Given the description of an element on the screen output the (x, y) to click on. 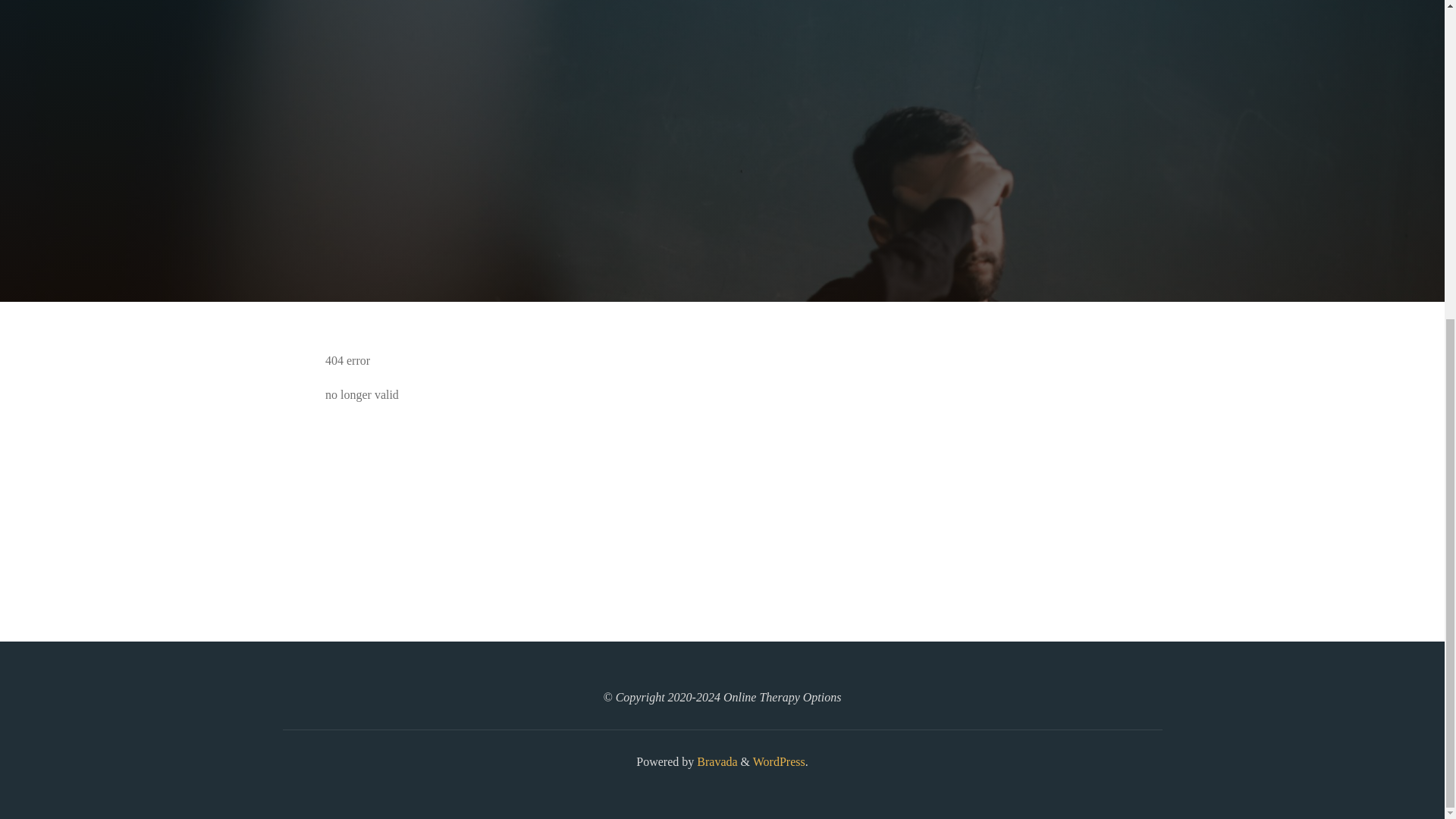
Bravada (715, 761)
Bravada WordPress Theme by Cryout Creations (715, 761)
Read more (721, 207)
Semantic Personal Publishing Platform (778, 761)
WordPress (778, 761)
